Given the description of an element on the screen output the (x, y) to click on. 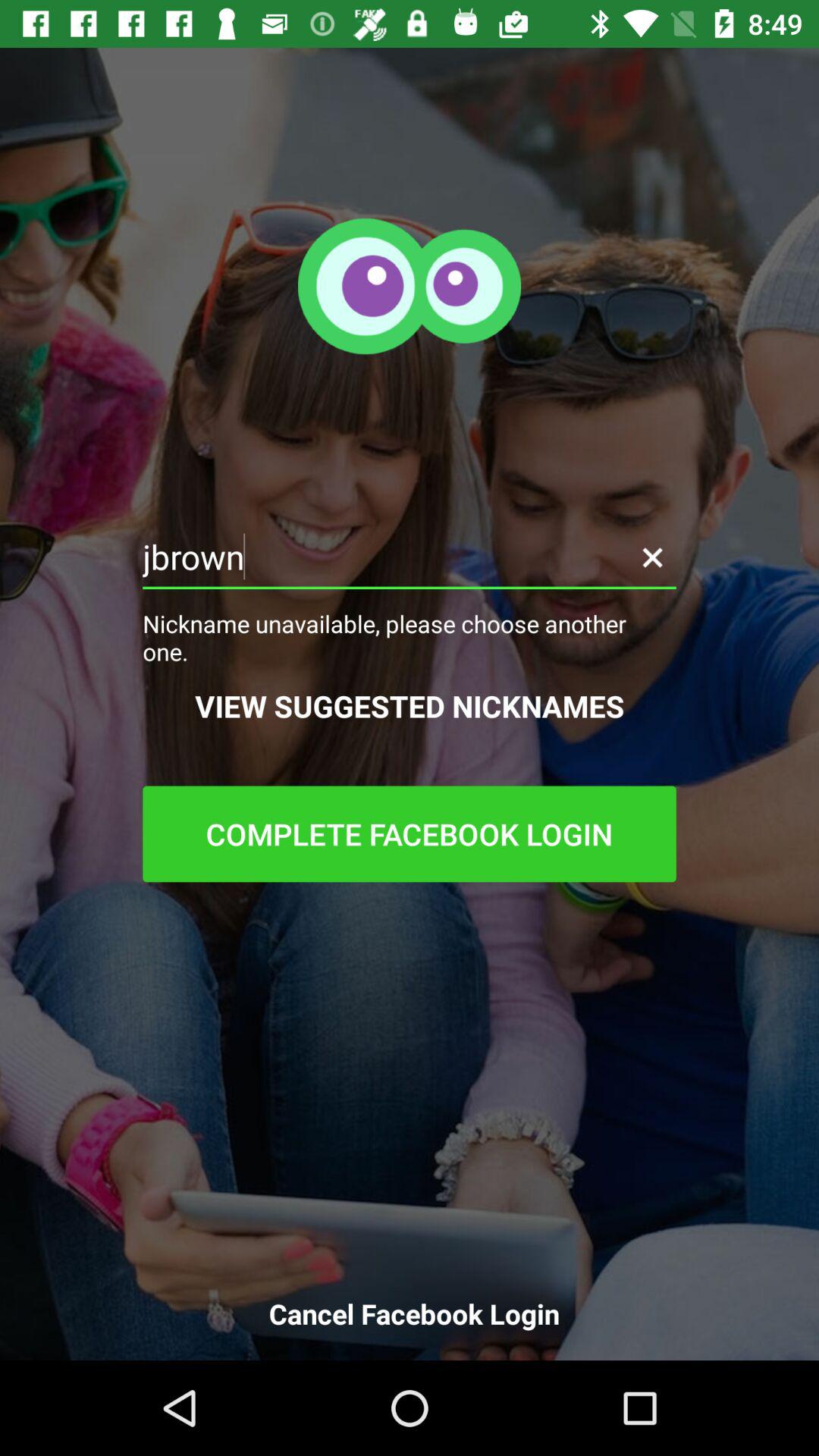
click item on the right (652, 557)
